Given the description of an element on the screen output the (x, y) to click on. 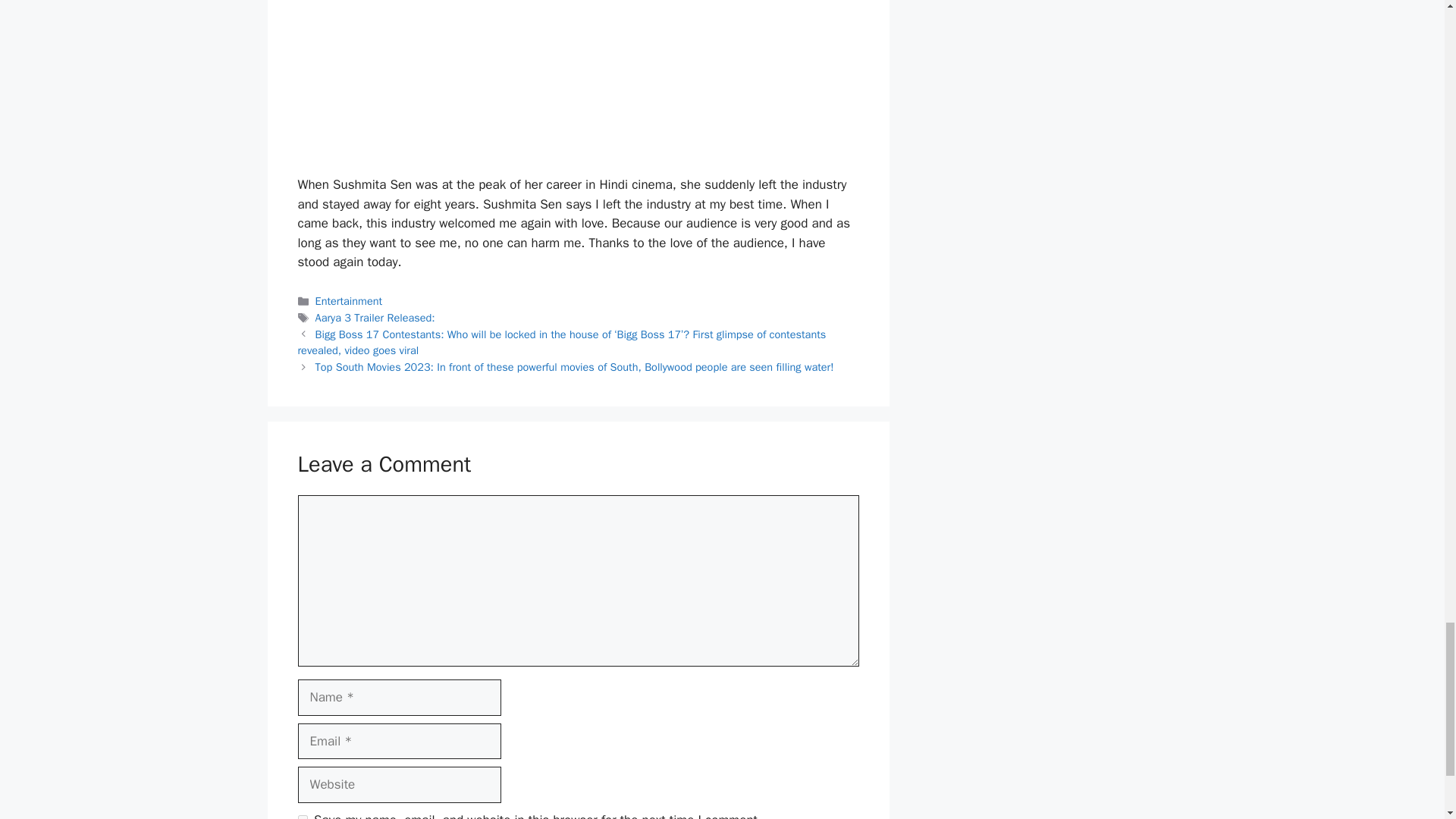
yes (302, 816)
Aarya 3 Trailer Released: (375, 317)
YouTube video player (509, 74)
Entertainment (348, 300)
